Given the description of an element on the screen output the (x, y) to click on. 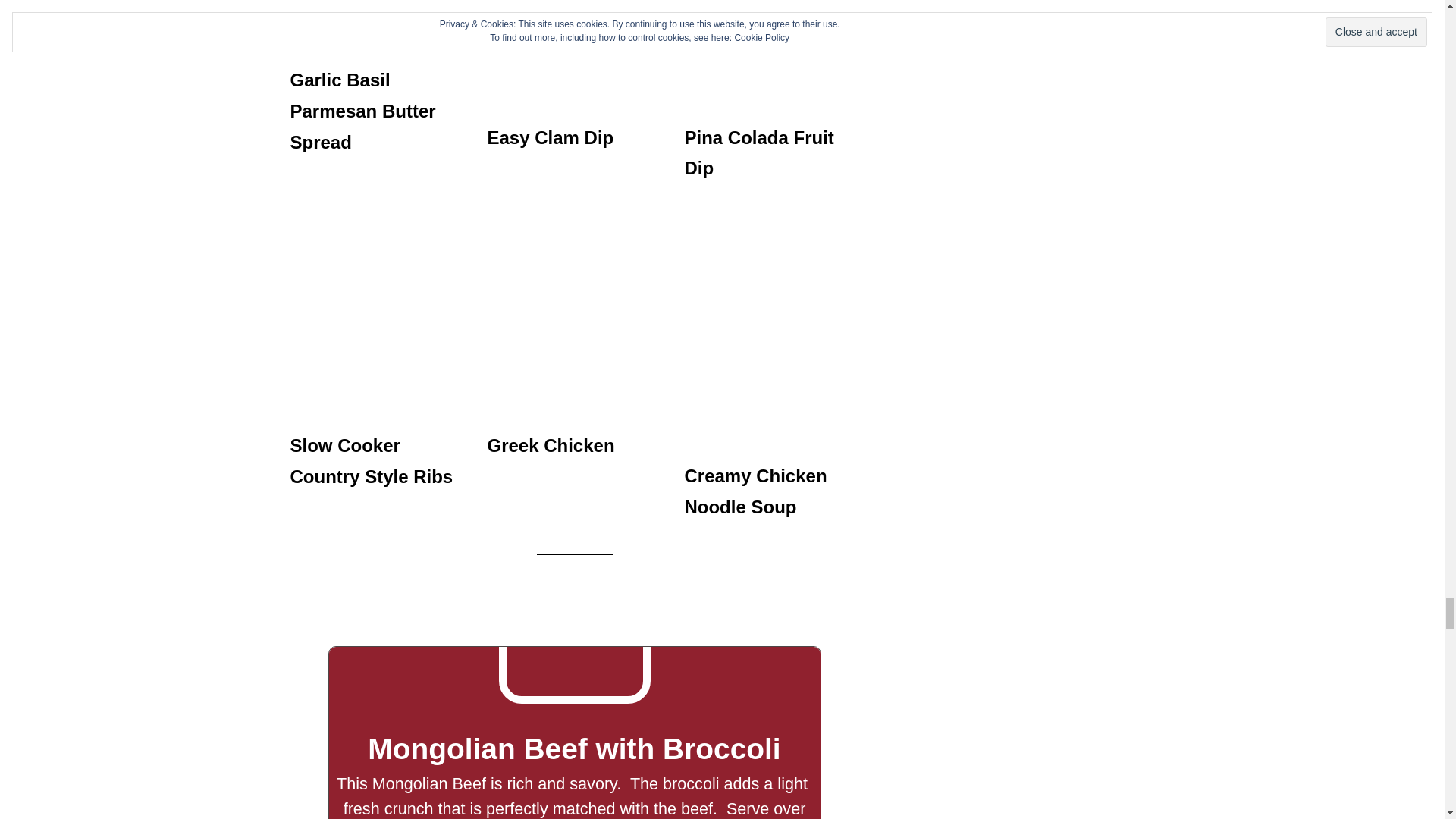
Garlic Basil Parmesan Butter Spread (362, 110)
Easy Clam Dip (549, 137)
Greek Chicken (550, 444)
Creamy Chicken Noodle Soup (755, 491)
Pina Colada Fruit Dip (758, 153)
Slow Cooker Country Style Ribs (370, 460)
